Given the description of an element on the screen output the (x, y) to click on. 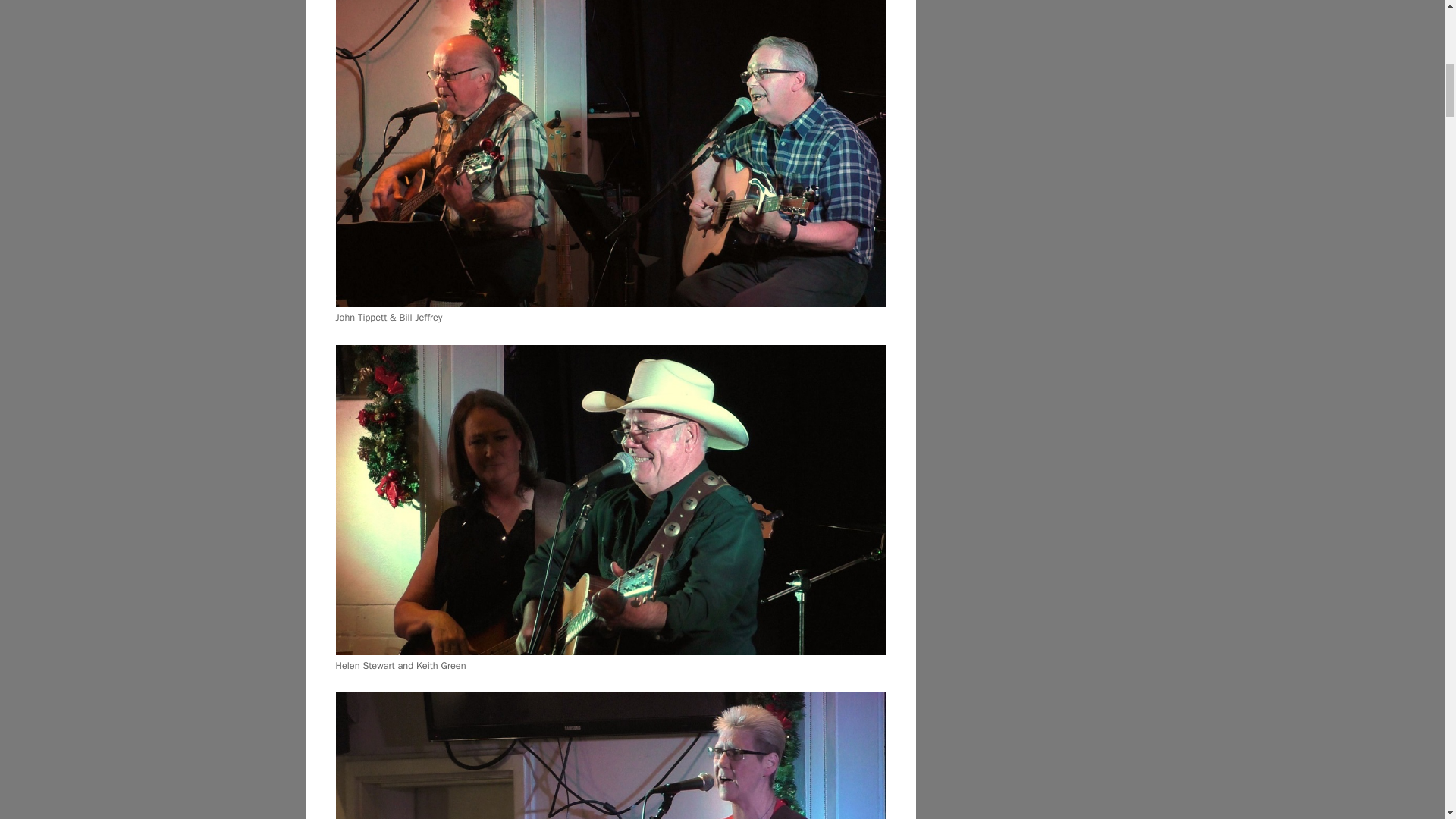
Scroll back to top (1406, 720)
